Given the description of an element on the screen output the (x, y) to click on. 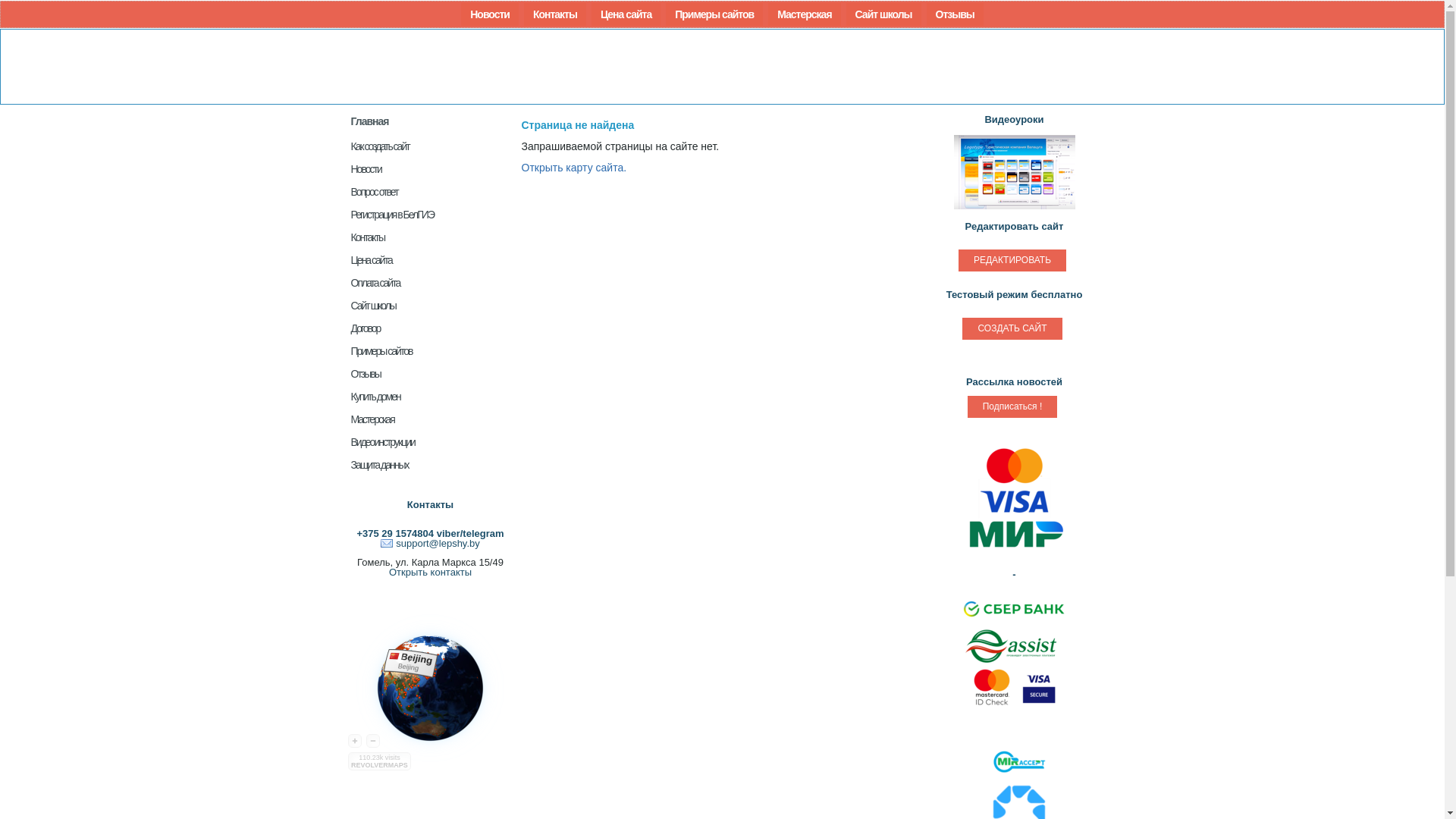
+375 29 1574804 viber/telegram Element type: text (429, 533)
support@lepshy.by Element type: text (430, 542)
